Given the description of an element on the screen output the (x, y) to click on. 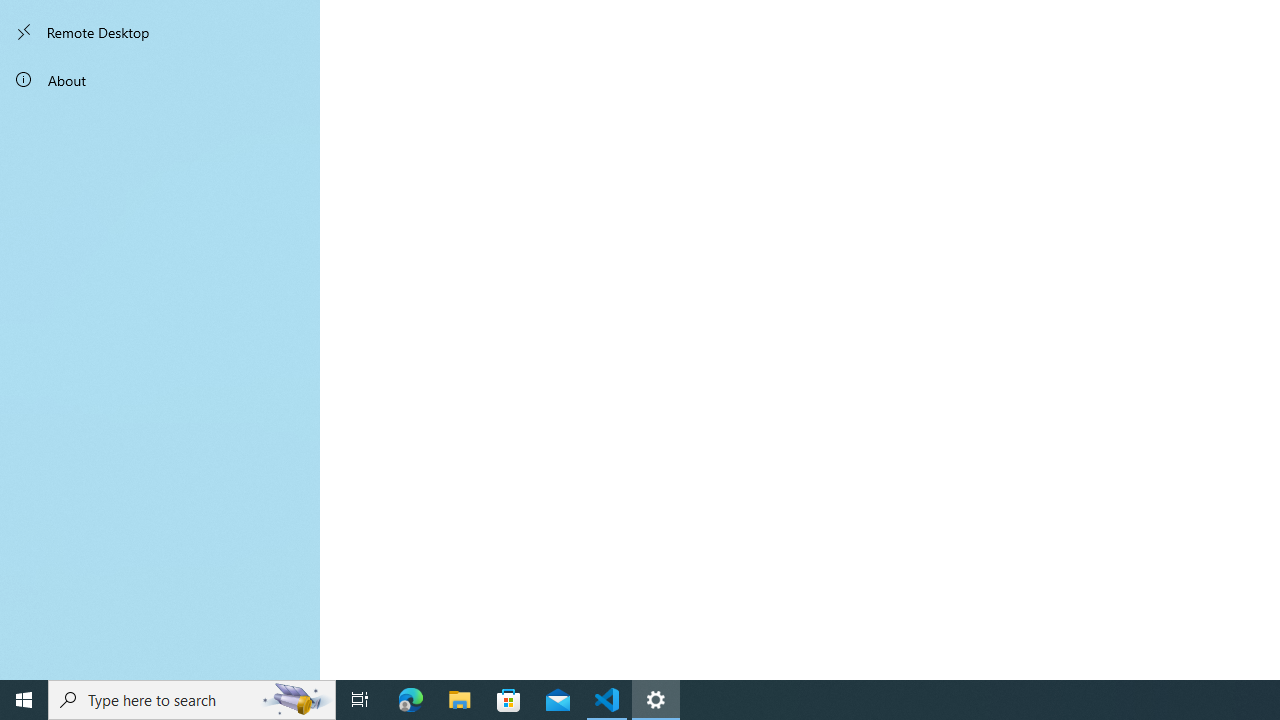
Microsoft Store (509, 699)
File Explorer (460, 699)
Remote Desktop (160, 31)
Settings - 1 running window (656, 699)
Type here to search (191, 699)
About (160, 79)
Start (24, 699)
Visual Studio Code - 1 running window (607, 699)
Microsoft Edge (411, 699)
Task View (359, 699)
Search highlights icon opens search home window (295, 699)
